Given the description of an element on the screen output the (x, y) to click on. 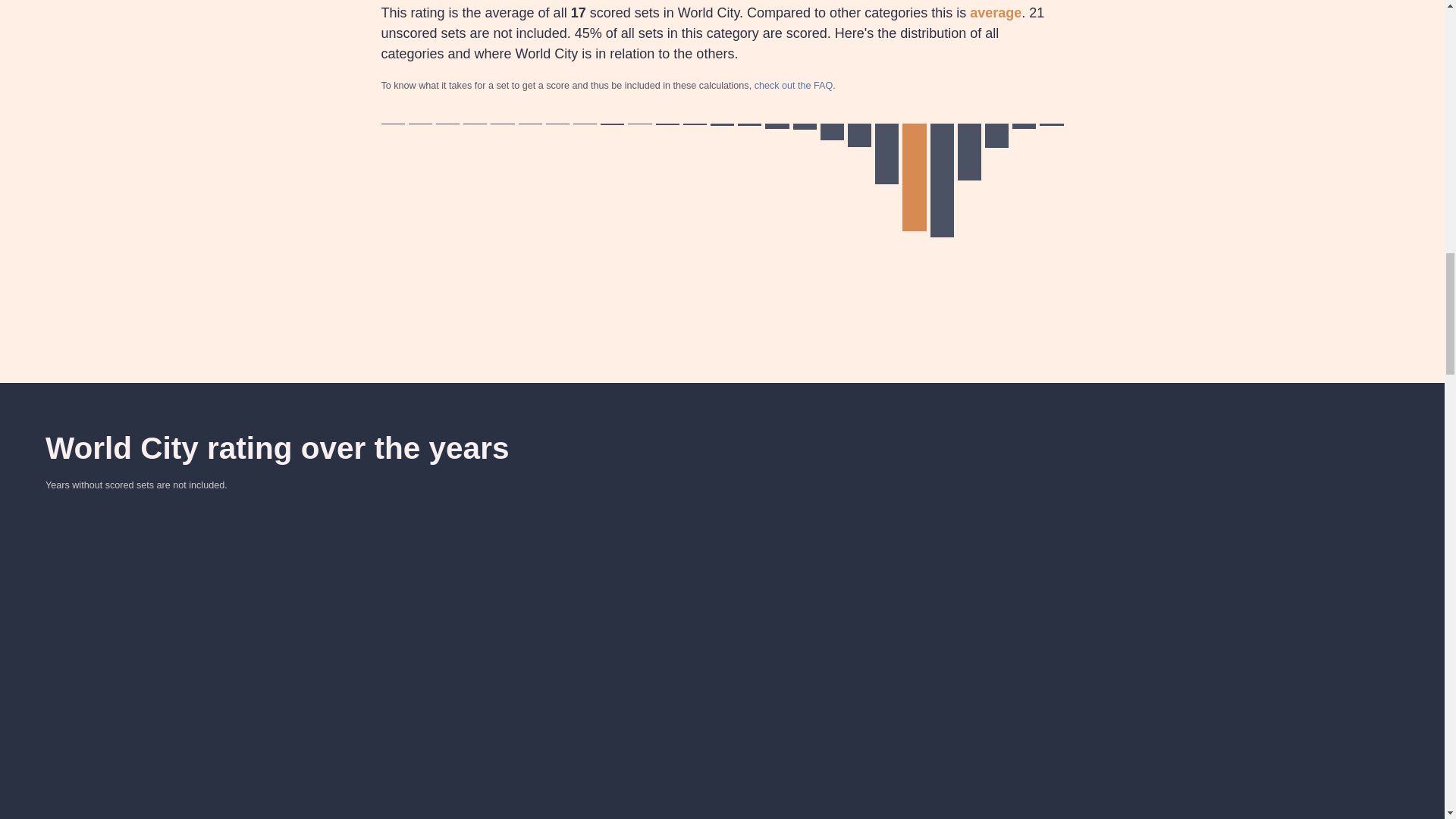
check out the FAQ (793, 85)
